Given the description of an element on the screen output the (x, y) to click on. 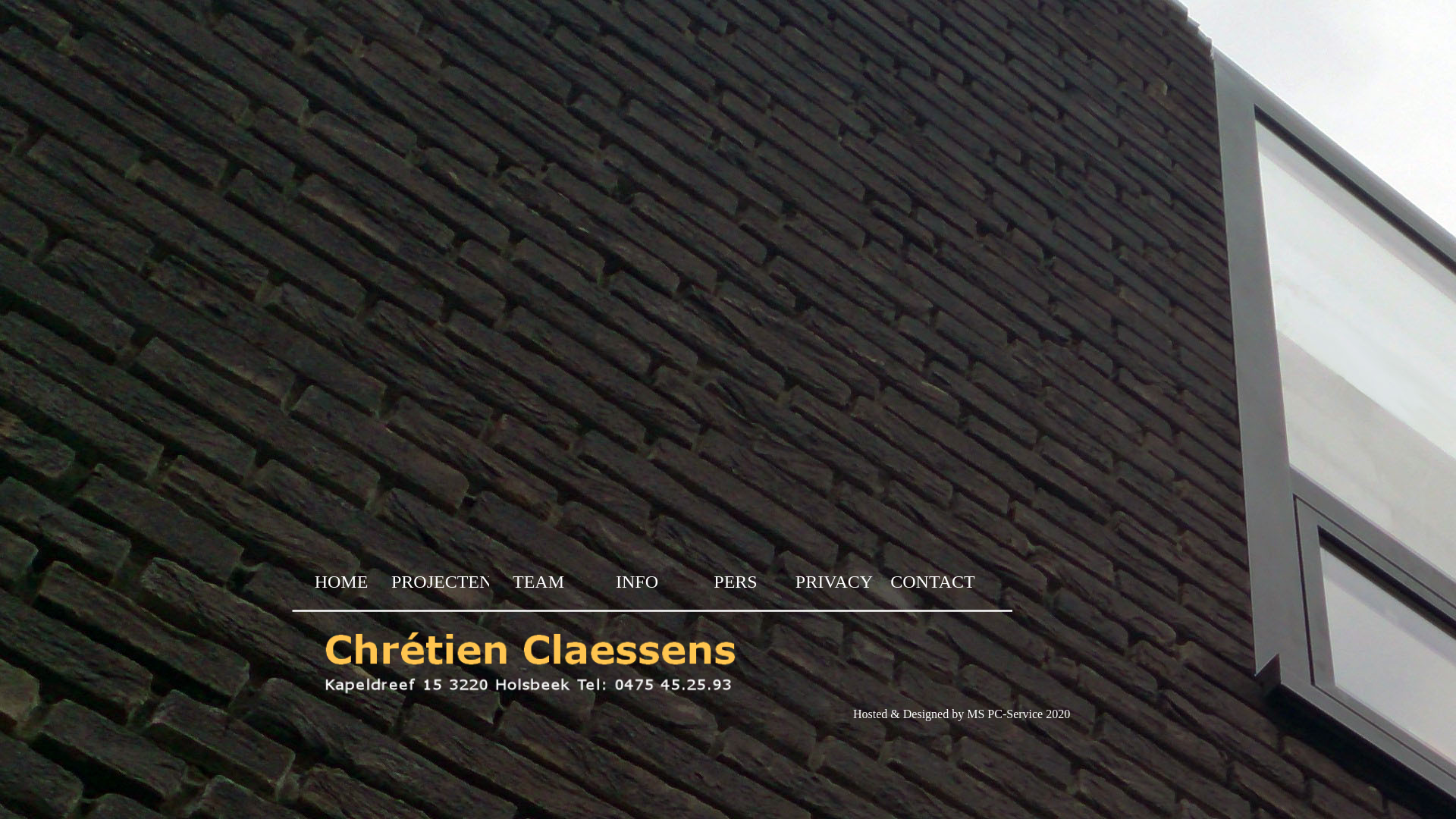
TEAM Element type: text (537, 581)
PROJECTEN Element type: text (441, 581)
CONTACT Element type: text (932, 581)
Hosted & Designed by MS PC-Service 2020 Element type: text (961, 713)
PERS Element type: text (735, 581)
PRIVACY Element type: text (833, 581)
INFO Element type: text (636, 581)
HOME Element type: text (340, 581)
